Given the description of an element on the screen output the (x, y) to click on. 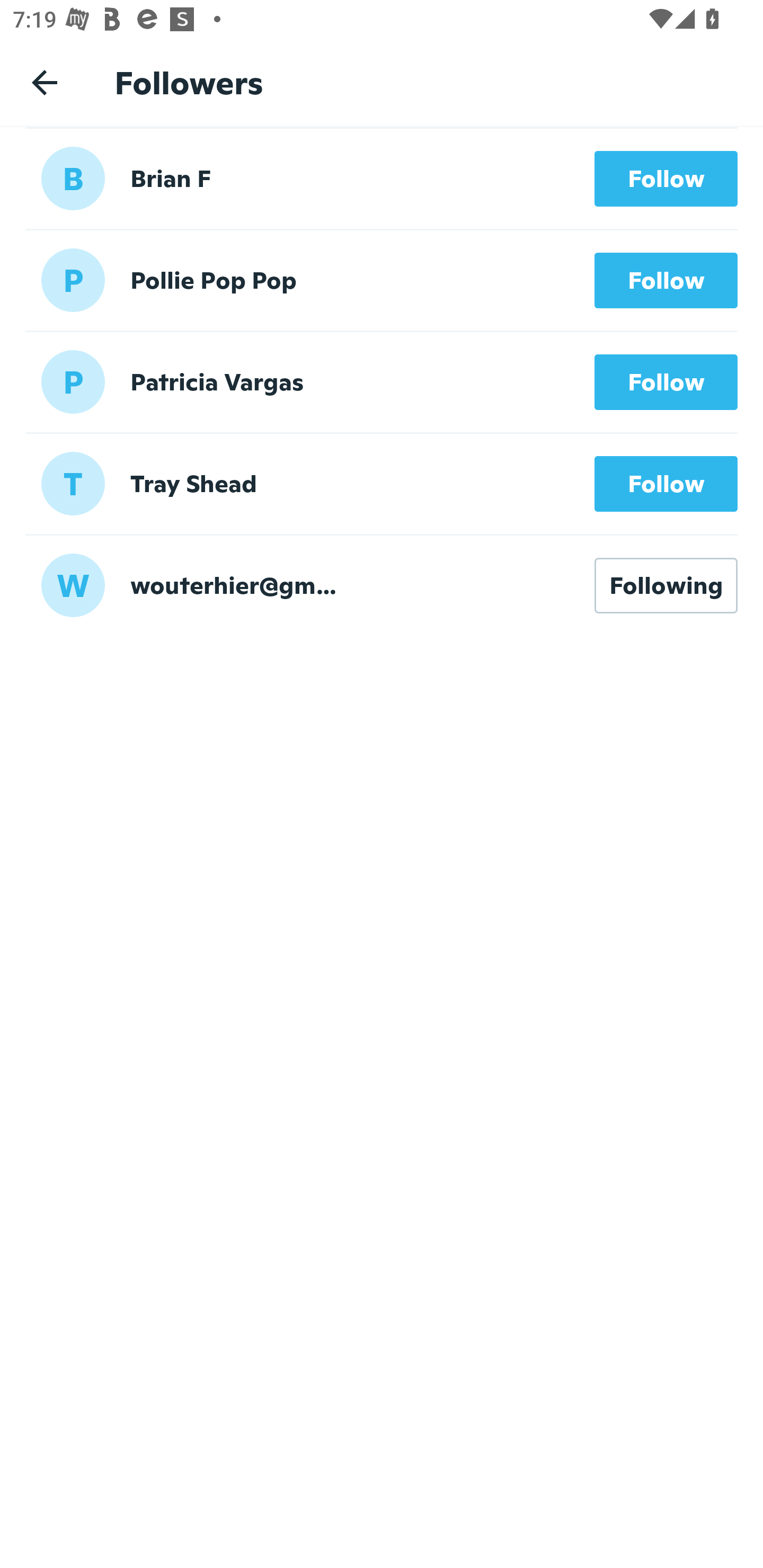
Navigate up (44, 82)
B Brian F Follow (381, 177)
Follow (665, 178)
P Pollie Pop Pop Follow (381, 279)
Follow (665, 280)
P Patricia Vargas Follow (381, 381)
Follow (665, 381)
T Tray Shead Follow (381, 483)
Follow (665, 483)
Following (665, 585)
